Given the description of an element on the screen output the (x, y) to click on. 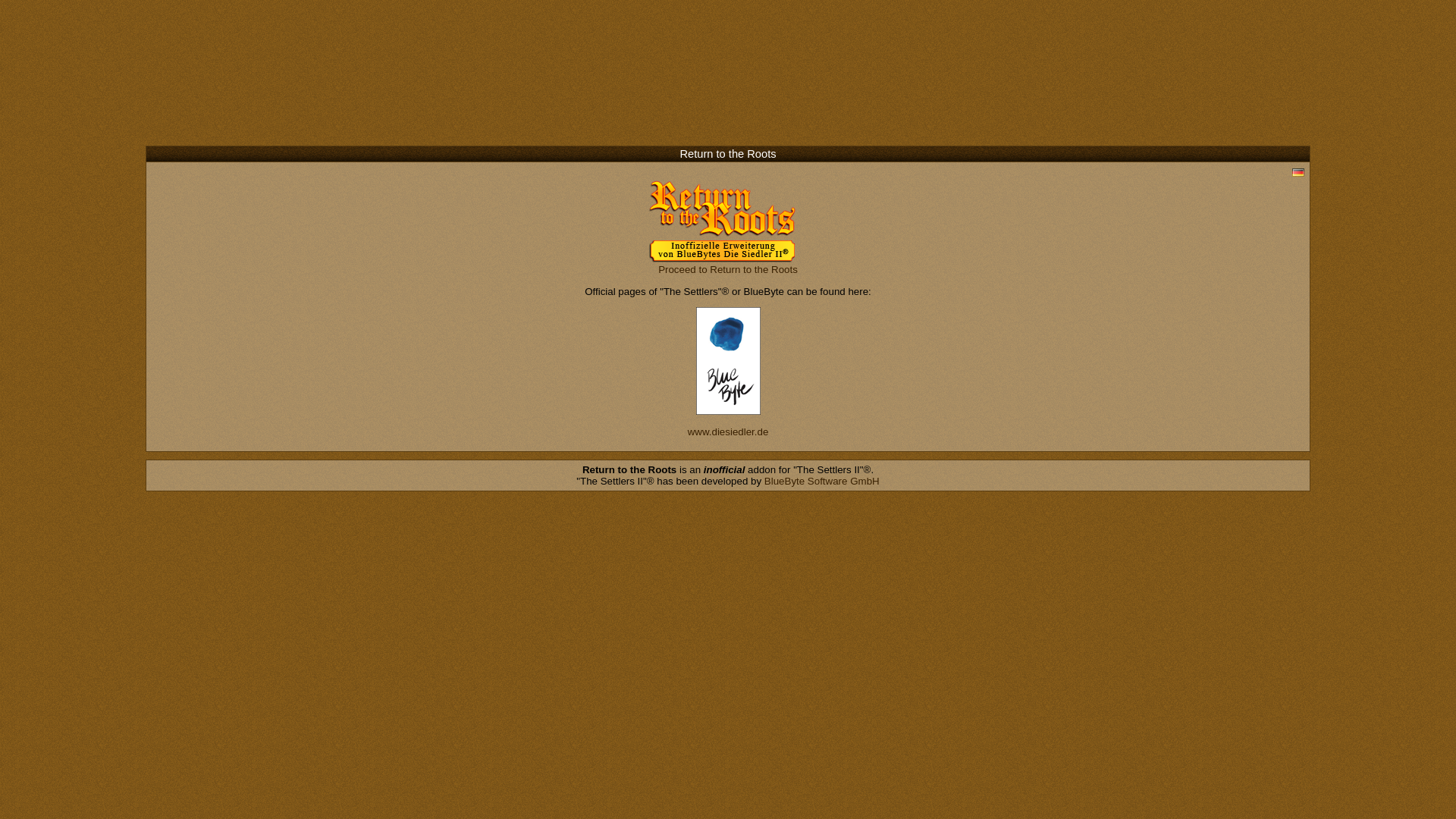
Proceed to Return to the Roots (727, 269)
